Given the description of an element on the screen output the (x, y) to click on. 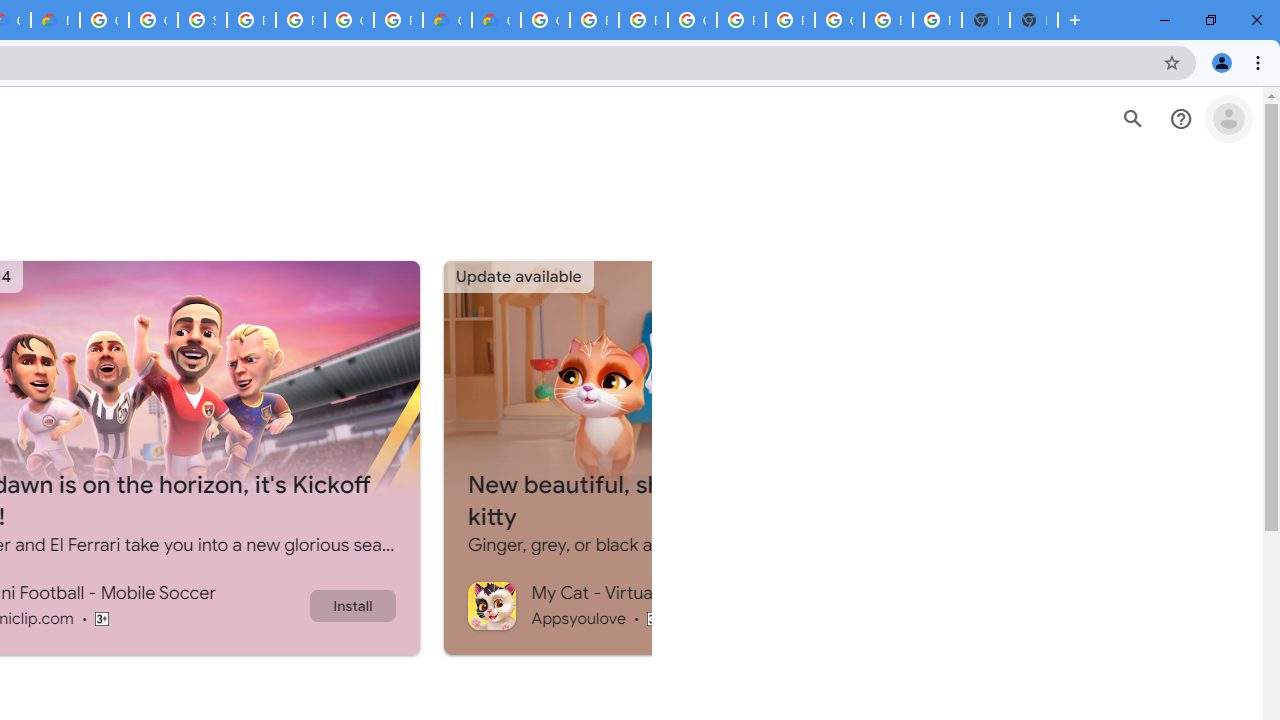
Google Cloud Platform (104, 20)
Install (351, 605)
Open account menu (1228, 119)
Help Center (1180, 119)
Browse Chrome as a guest - Computer - Google Chrome Help (594, 20)
Google Cloud Platform (692, 20)
